Given the description of an element on the screen output the (x, y) to click on. 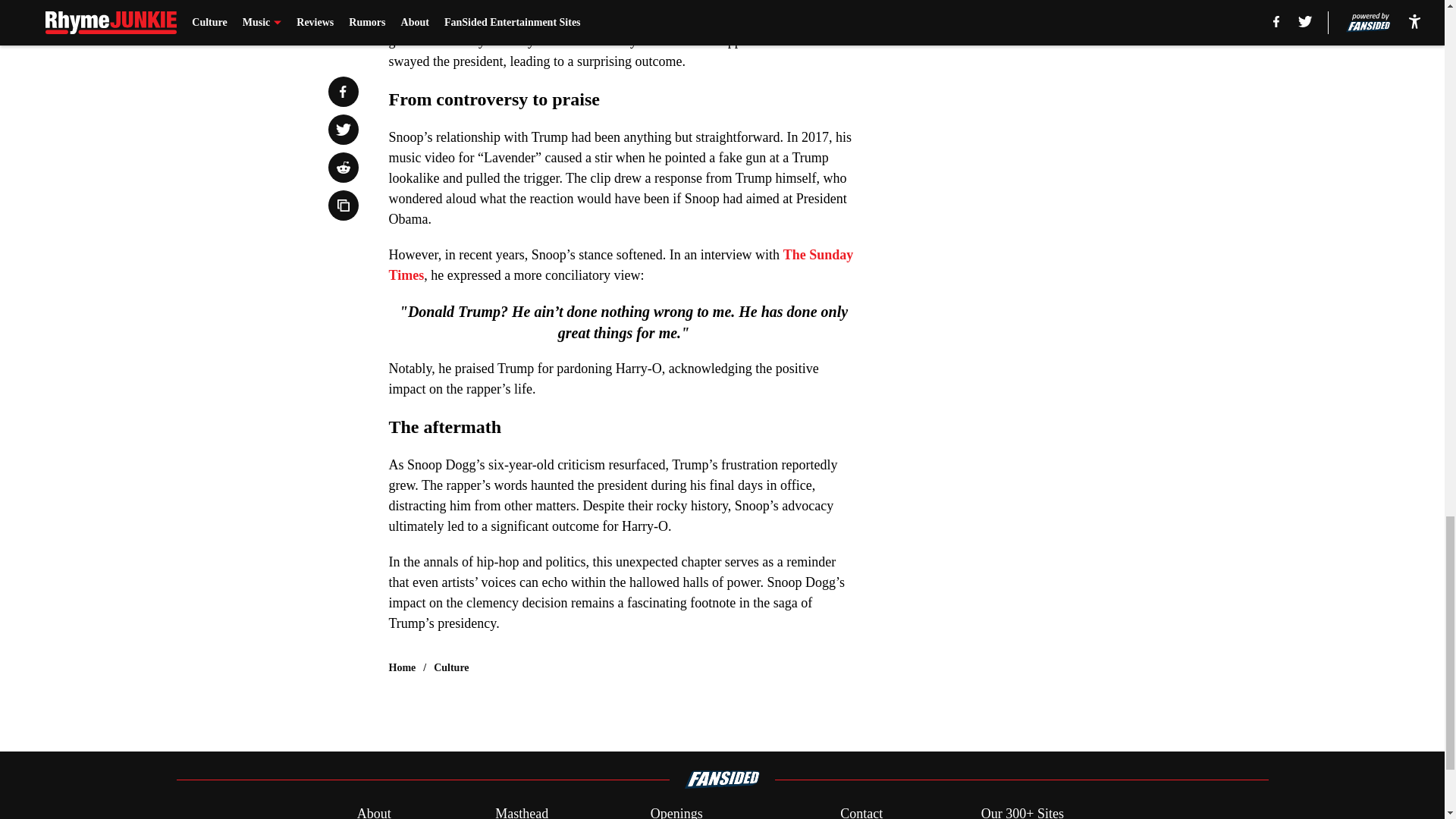
The Sunday Times (620, 264)
Masthead (521, 811)
Culture (450, 667)
Home (401, 667)
Openings (676, 811)
Contact (861, 811)
About (373, 811)
